Given the description of an element on the screen output the (x, y) to click on. 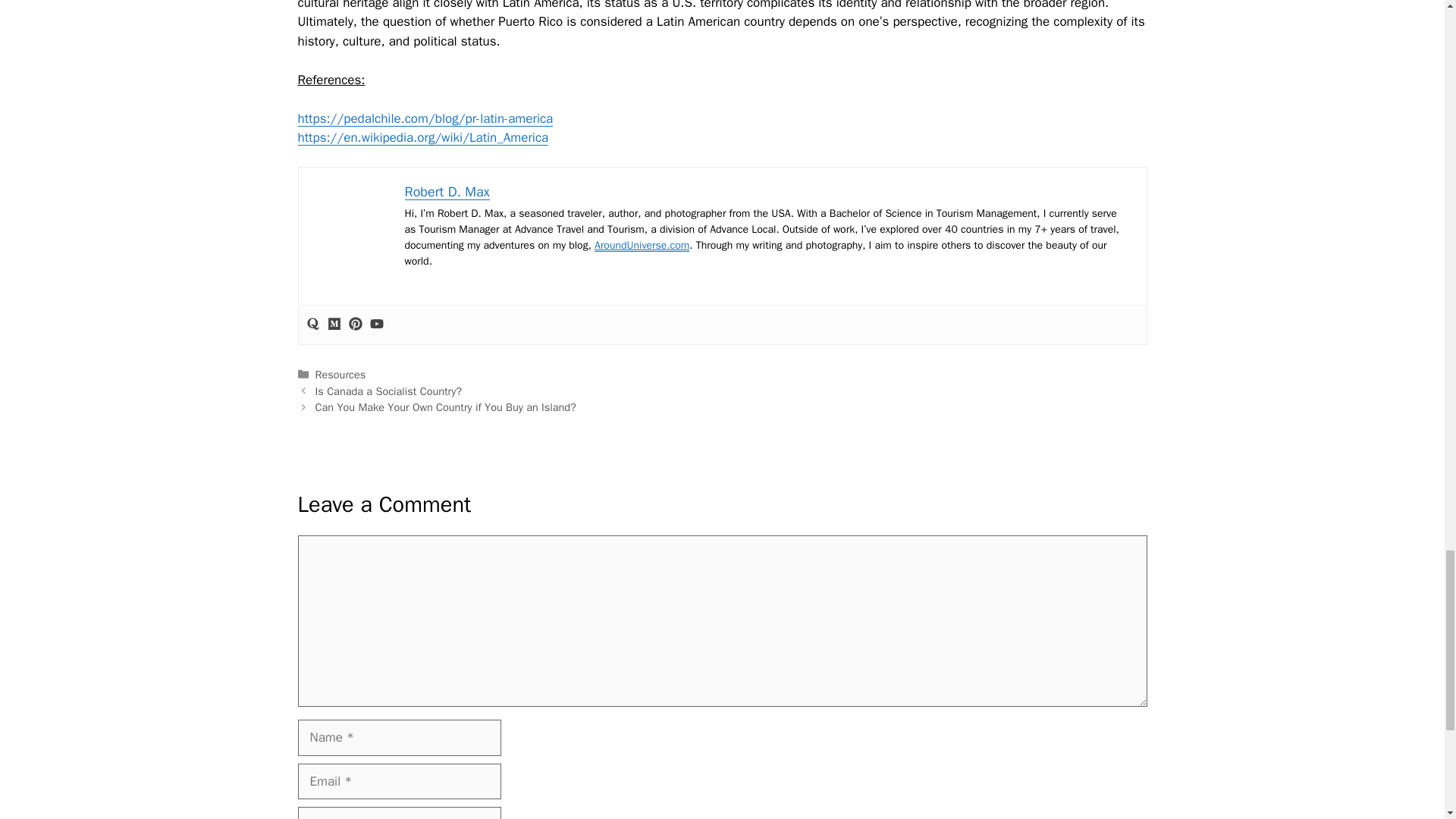
Can You Make Your Own Country if You Buy an Island? (445, 407)
Robert D. Max (446, 191)
Resources (340, 374)
AroundUniverse.com (641, 245)
Is Canada a Socialist Country? (388, 391)
